Given the description of an element on the screen output the (x, y) to click on. 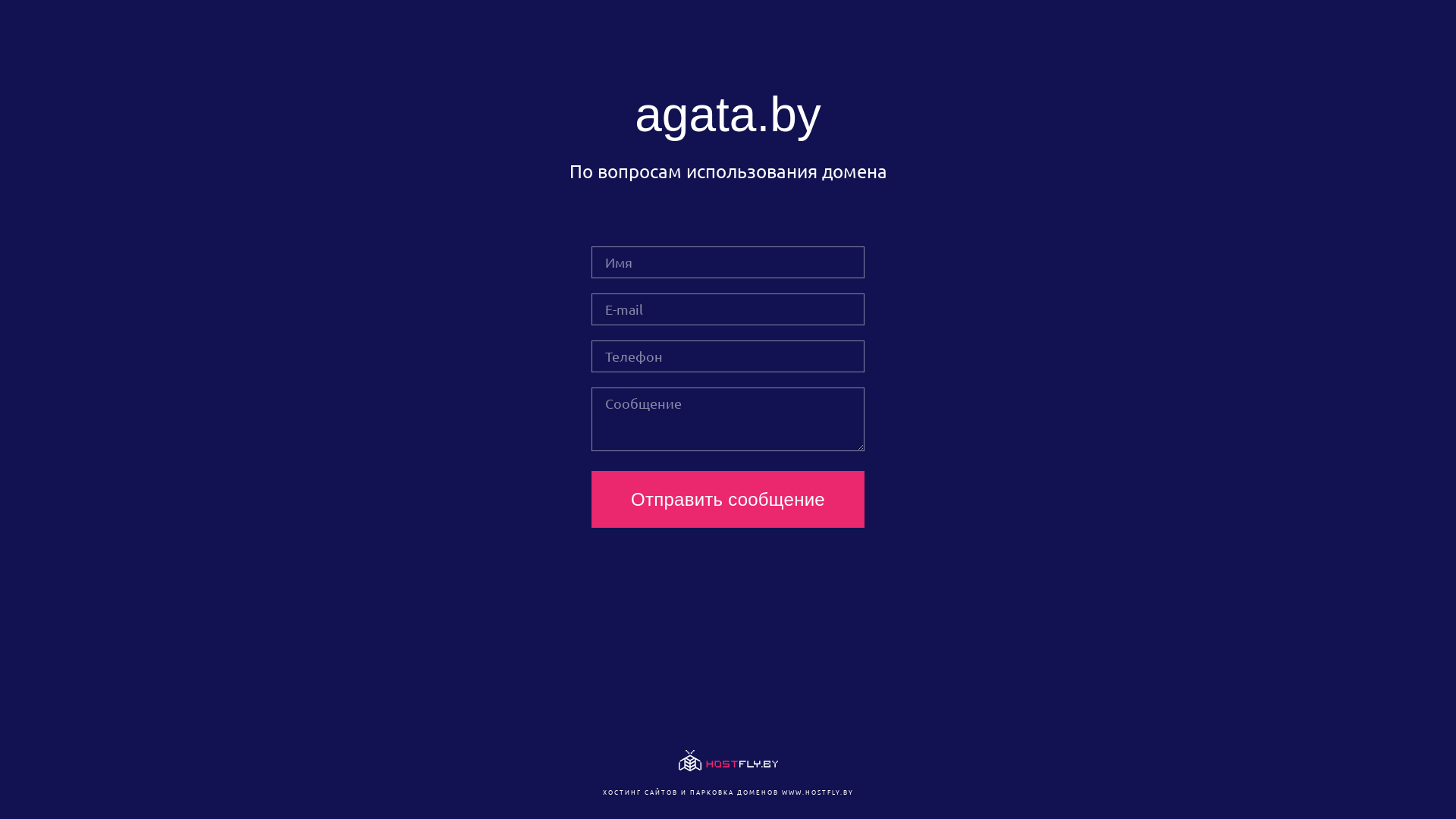
WWW.HOSTFLY.BY Element type: text (817, 791)
